Given the description of an element on the screen output the (x, y) to click on. 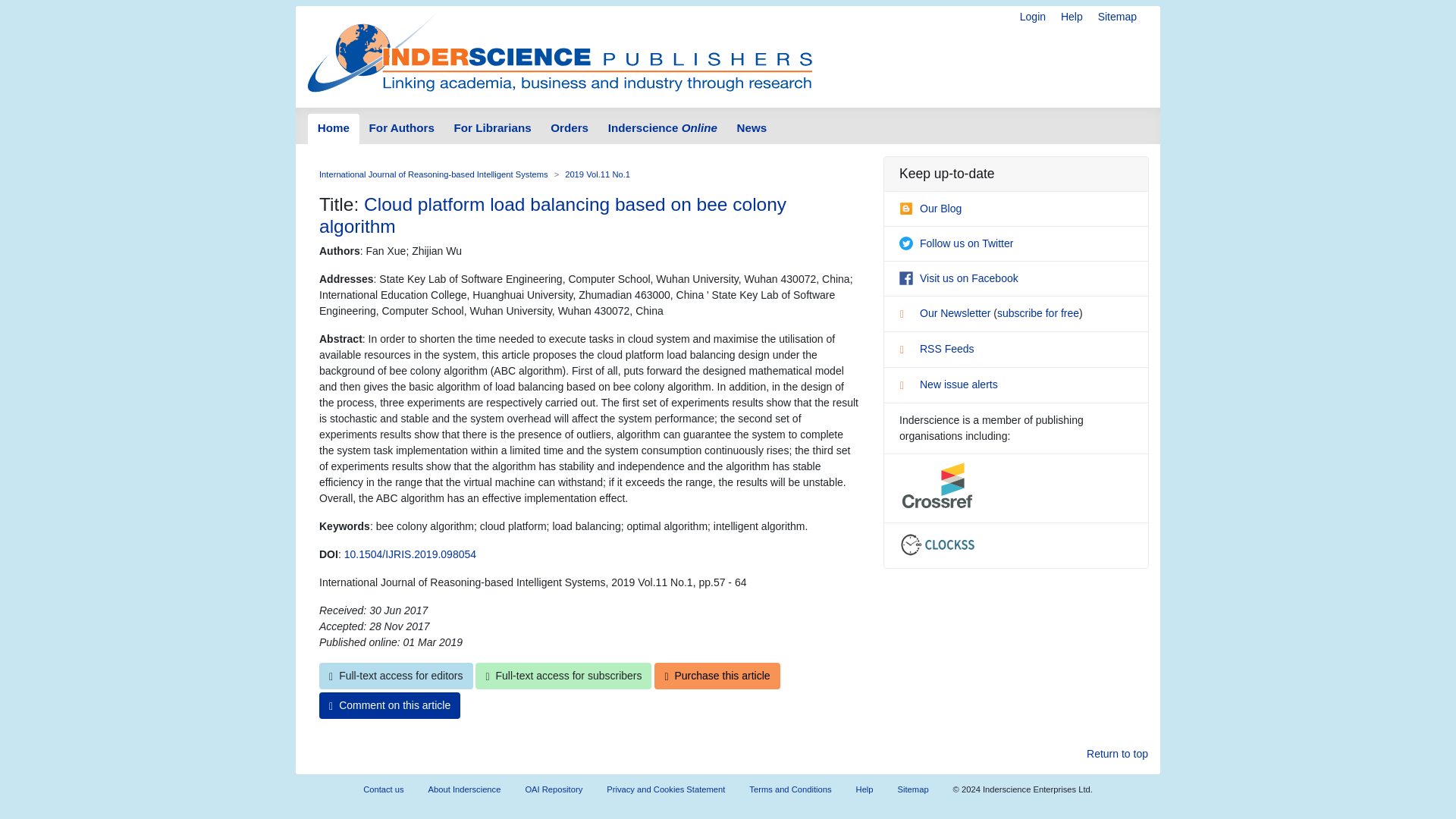
For Librarians (492, 128)
Sitemap (1117, 16)
For Authors (401, 128)
RSS (906, 351)
Help (1072, 16)
Purchase this article (715, 675)
Full-text access for editors (395, 675)
subscribe for free (1037, 313)
Visit us on Facebook (958, 277)
Return to top (1117, 754)
